Given the description of an element on the screen output the (x, y) to click on. 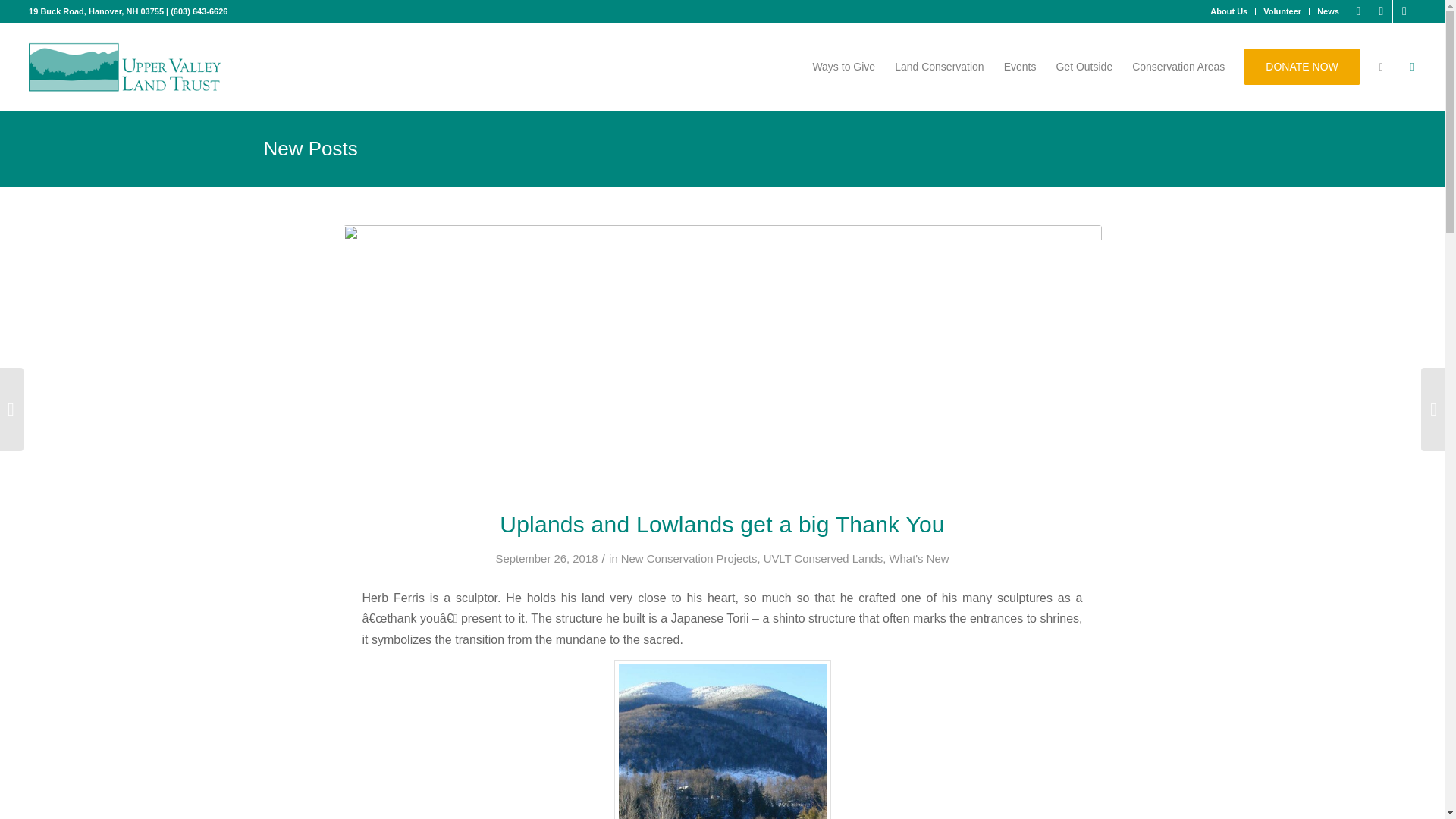
Permanent Link: New Posts (310, 148)
Instagram (1404, 11)
Volunteer (1282, 11)
Facebook (1359, 11)
News (1328, 11)
About Us (1228, 11)
uvlt-logo-stacked (125, 66)
Youtube (1380, 11)
